Given the description of an element on the screen output the (x, y) to click on. 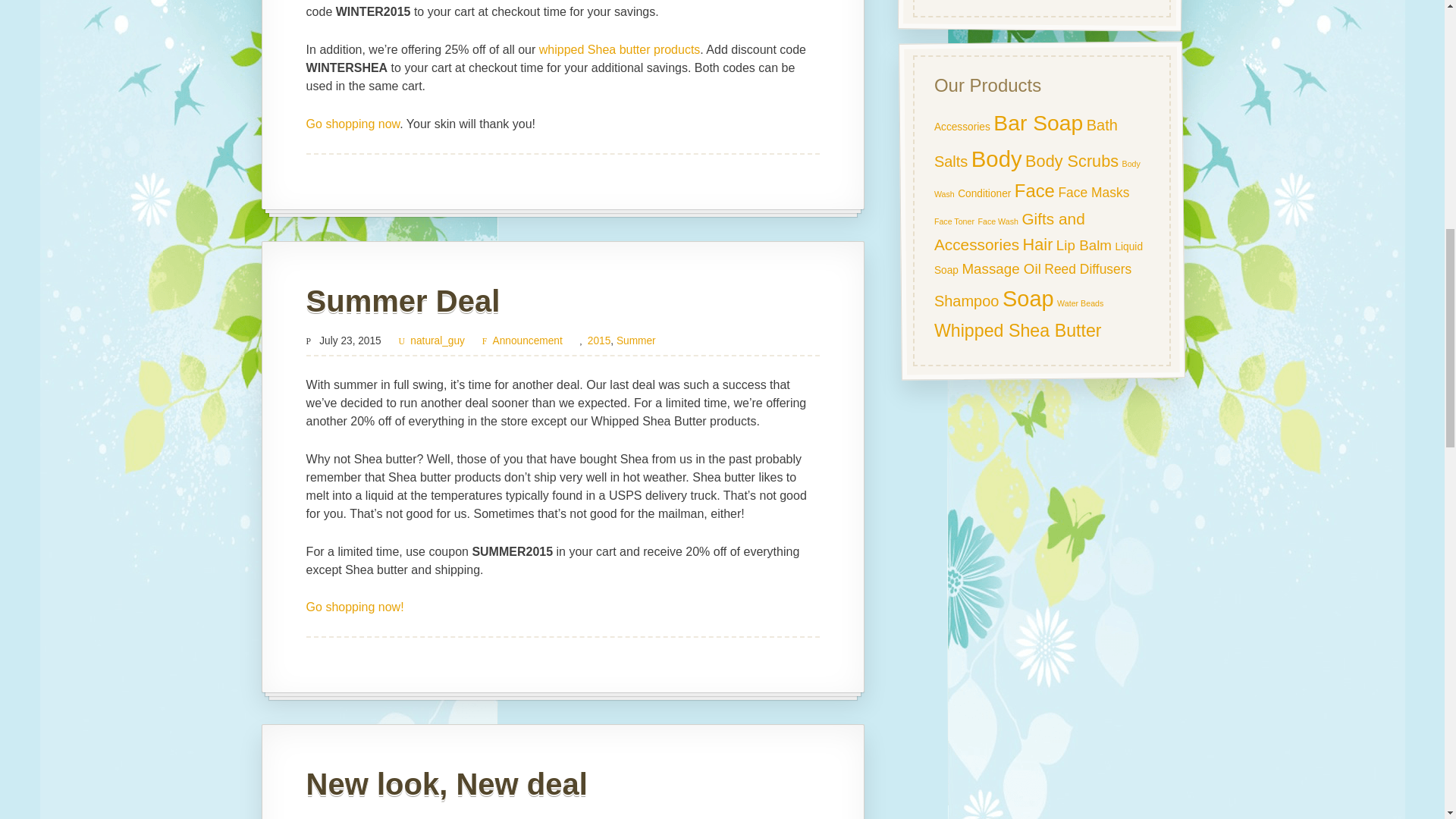
New look, New deal (446, 783)
Summer Deal (402, 300)
whipped Shea butter products (619, 49)
Go shopping now (352, 123)
Summer Deal (402, 300)
